Given the description of an element on the screen output the (x, y) to click on. 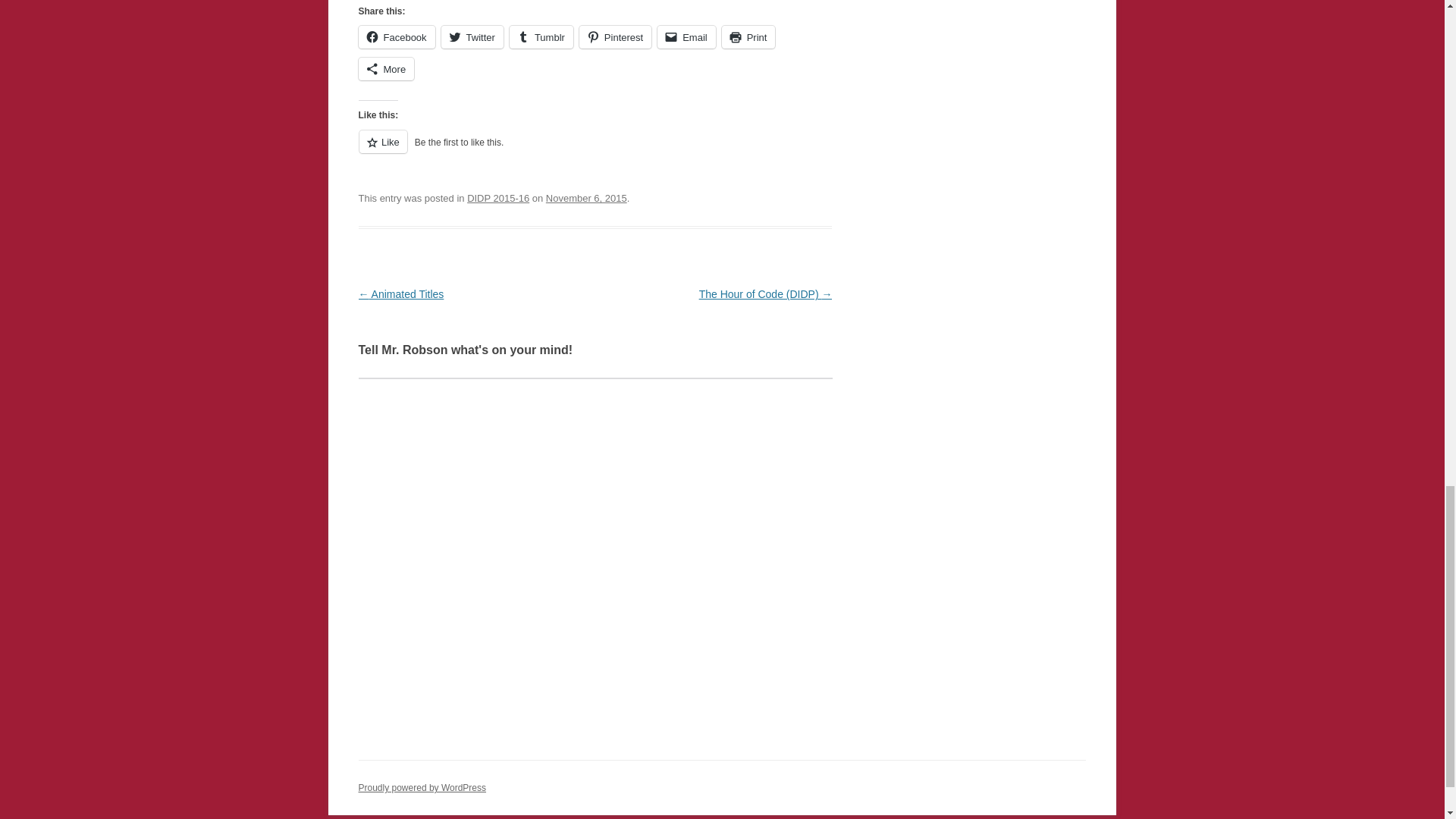
Click to email a link to a friend (687, 36)
Tumblr (541, 36)
Click to share on Facebook (395, 36)
Email (687, 36)
Click to print (749, 36)
8:29 am (586, 197)
Click to share on Twitter (472, 36)
Proudly powered by WordPress (422, 787)
Facebook (395, 36)
DIDP 2015-16 (498, 197)
